Given the description of an element on the screen output the (x, y) to click on. 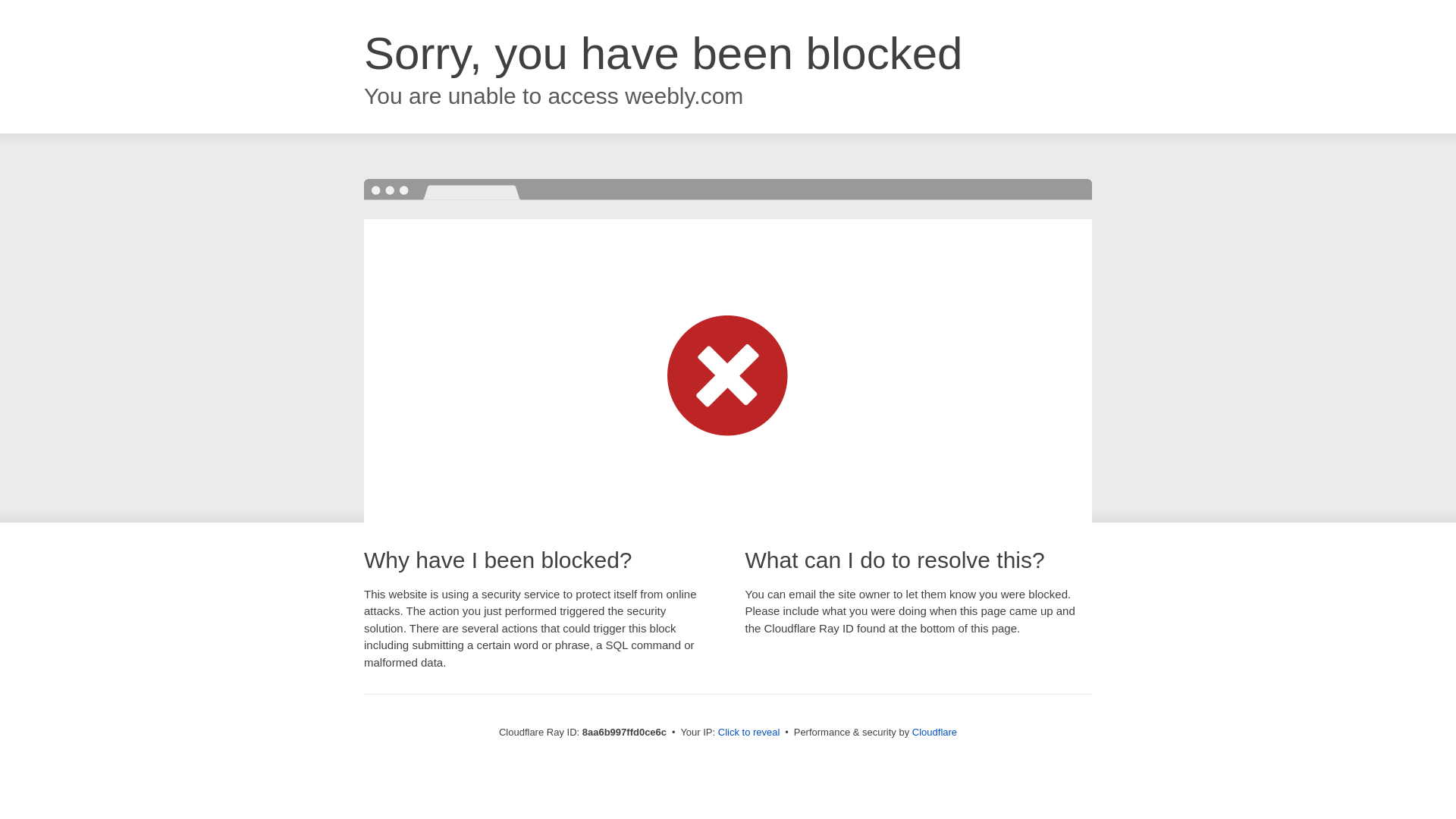
Cloudflare (934, 731)
Click to reveal (748, 732)
